Given the description of an element on the screen output the (x, y) to click on. 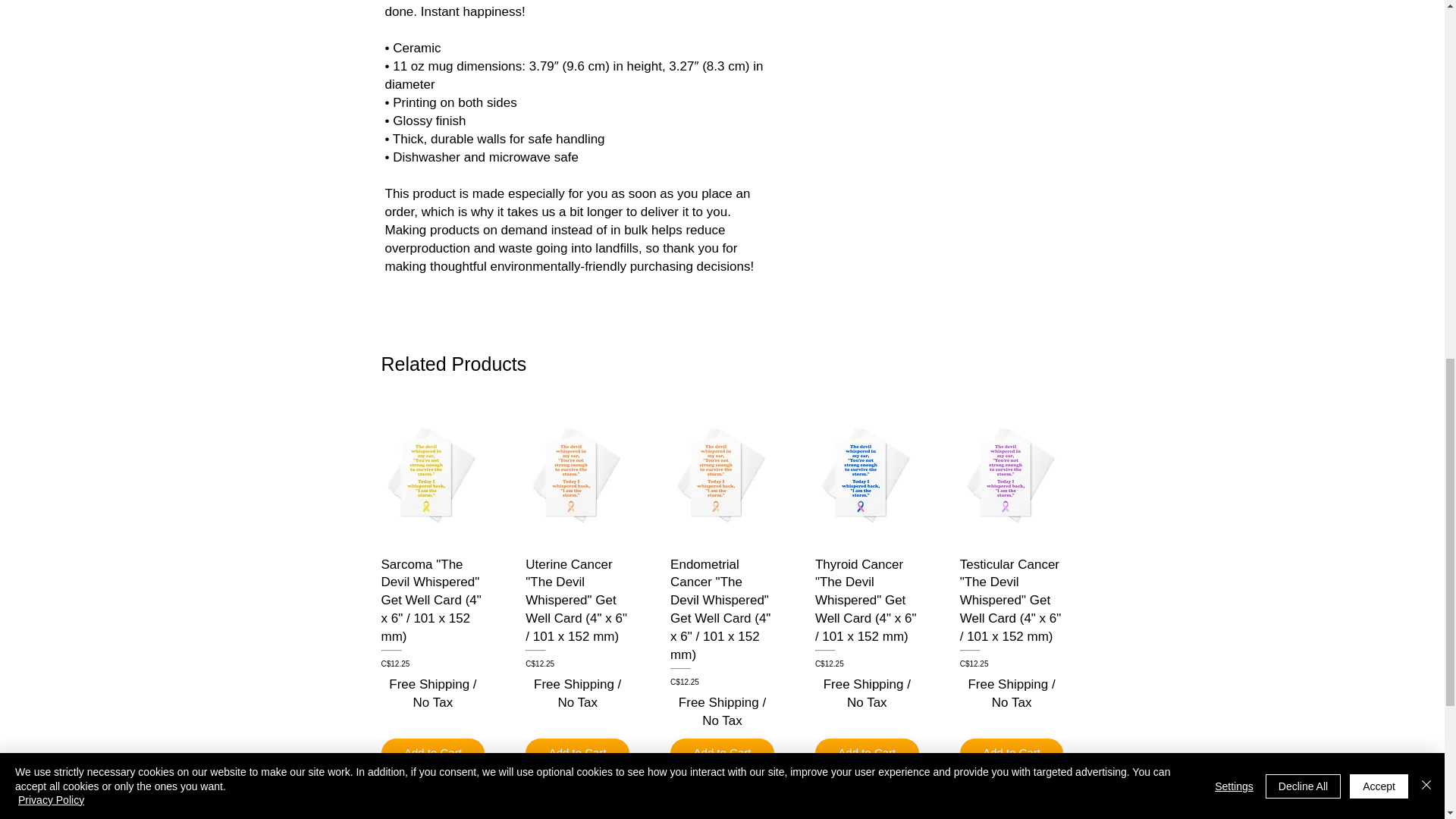
Add to Cart (866, 753)
Add to Cart (576, 753)
Add to Cart (432, 753)
Add to Cart (721, 753)
